Given the description of an element on the screen output the (x, y) to click on. 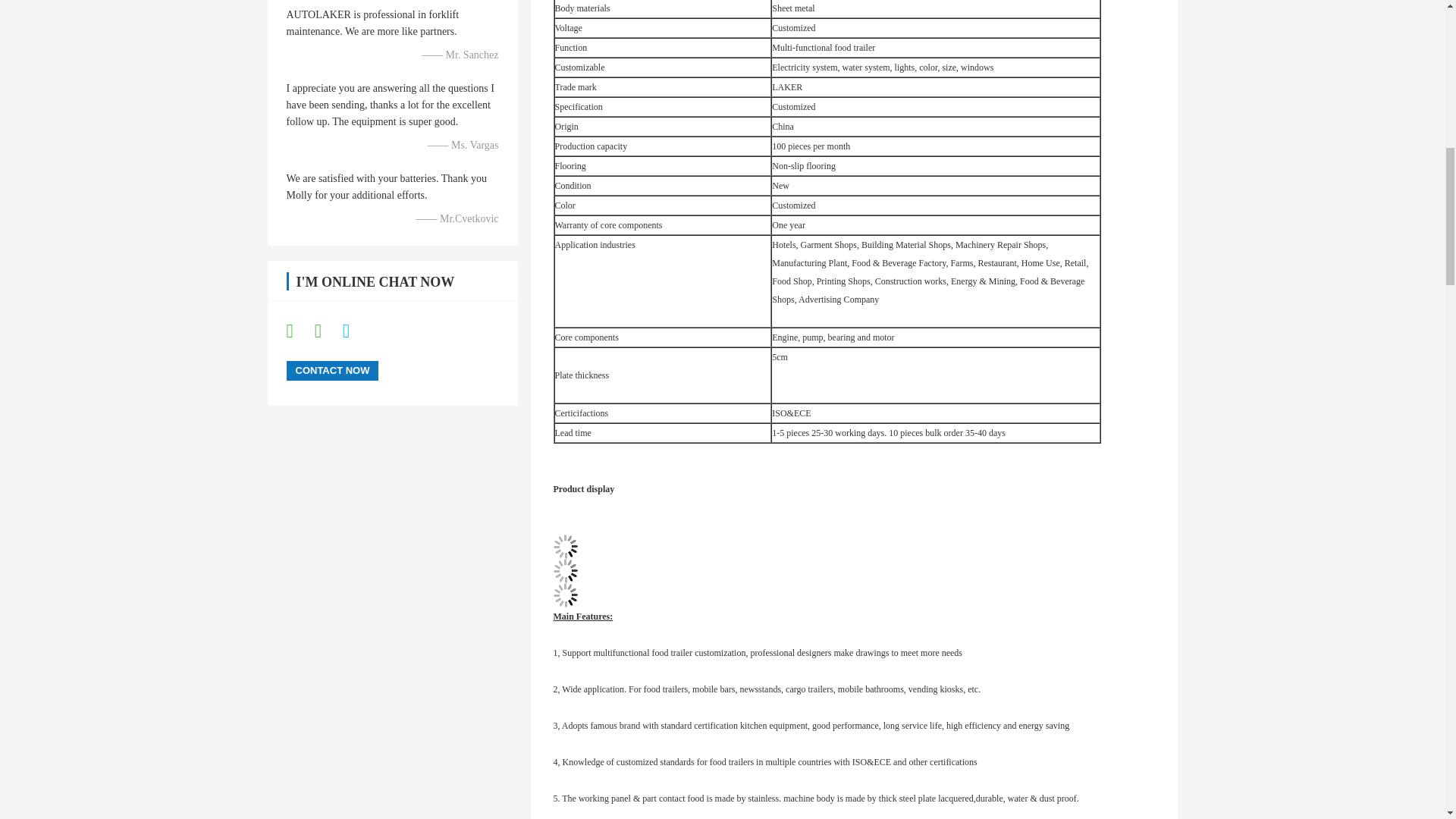
Contact Now (332, 370)
